Given the description of an element on the screen output the (x, y) to click on. 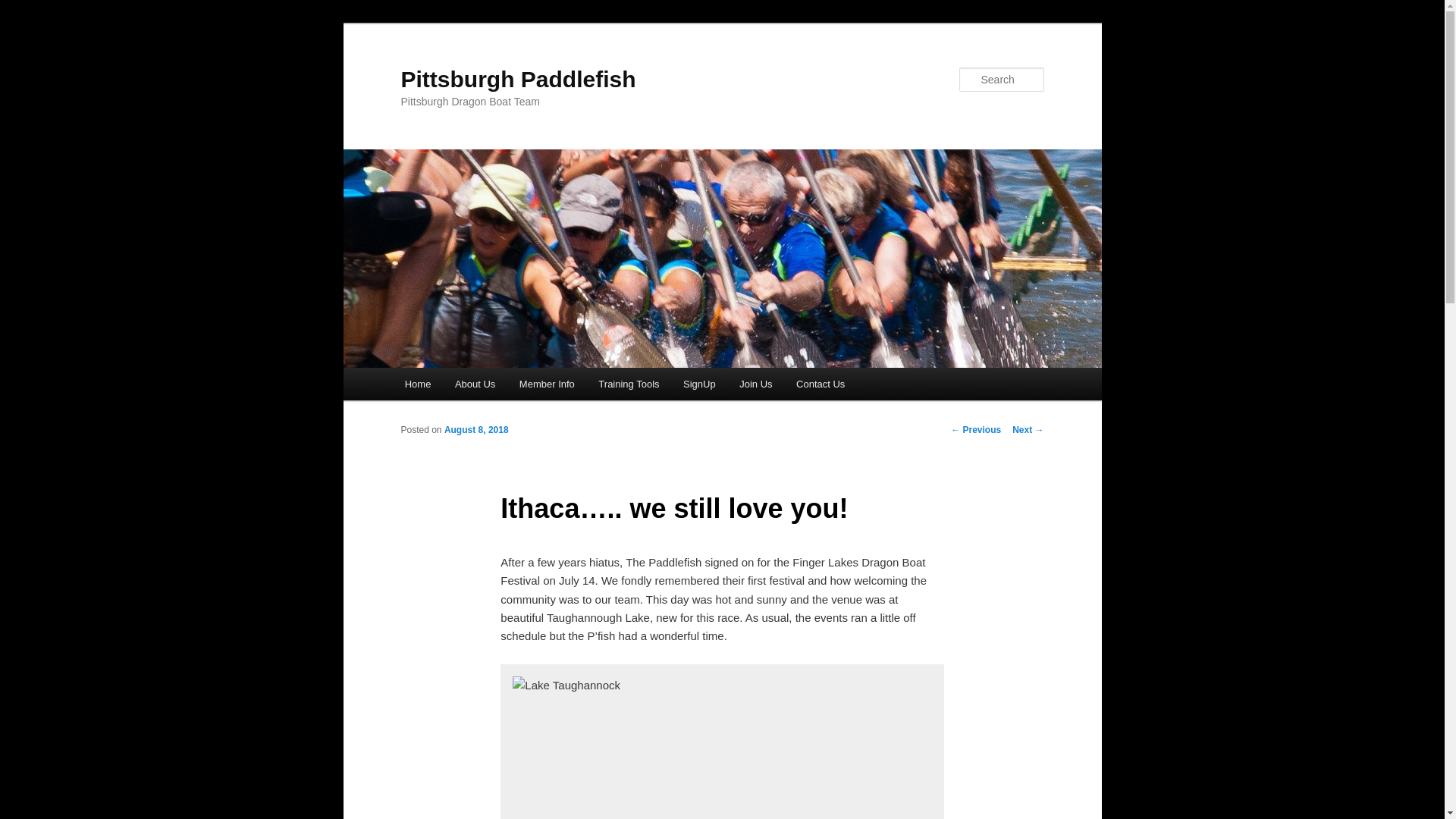
About Us (474, 383)
Home (417, 383)
Search (24, 8)
Pittsburgh Paddlefish (517, 78)
1:11 pm (476, 429)
SignUp (698, 383)
August 8, 2018 (476, 429)
Contact Us (820, 383)
Join Us (755, 383)
